Given the description of an element on the screen output the (x, y) to click on. 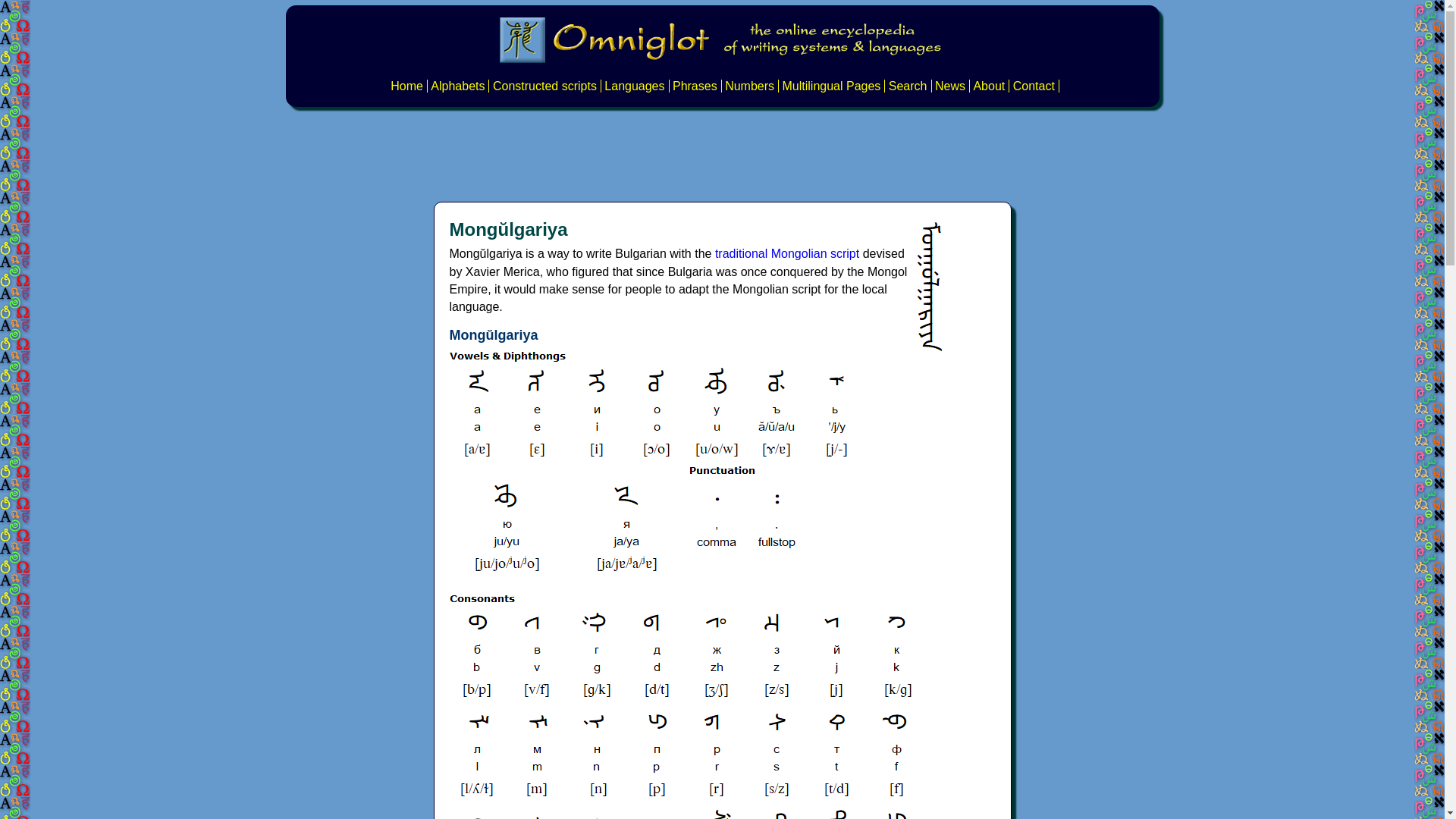
Alphabets (457, 85)
About (988, 85)
Phrases (694, 85)
Search (907, 85)
Contact (1033, 85)
Languages (633, 85)
Constructed scripts (544, 85)
traditional Mongolian script (786, 253)
Home (406, 85)
Numbers (749, 85)
